Given the description of an element on the screen output the (x, y) to click on. 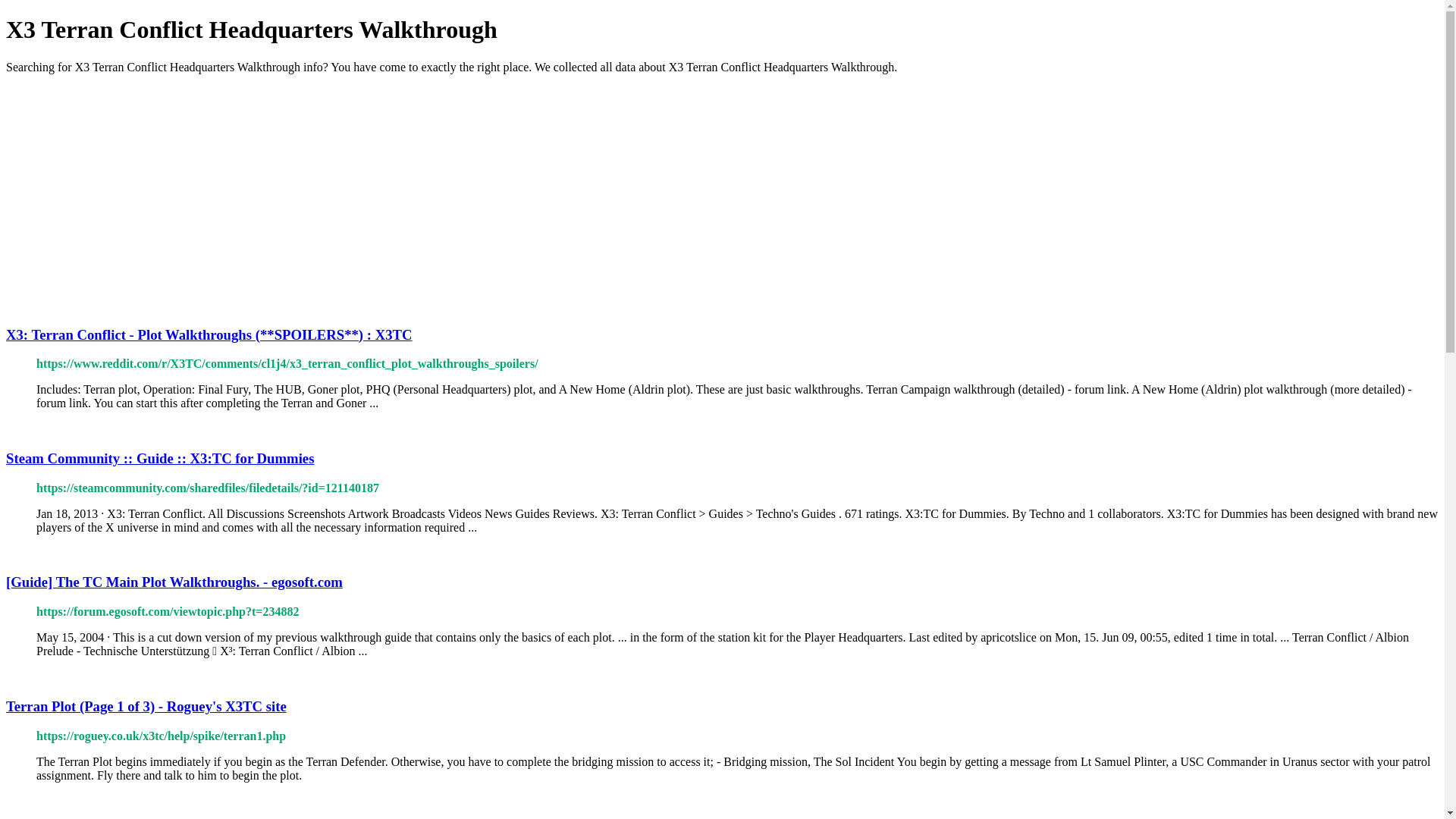
Steam Community :: Guide :: X3:TC for Dummies Element type: text (159, 458)
Advertisement Element type: hover (461, 192)
[Guide] The TC Main Plot Walkthroughs. - egosoft.com Element type: text (174, 581)
Terran Plot (Page 1 of 3) - Roguey's X3TC site Element type: text (146, 706)
